Given the description of an element on the screen output the (x, y) to click on. 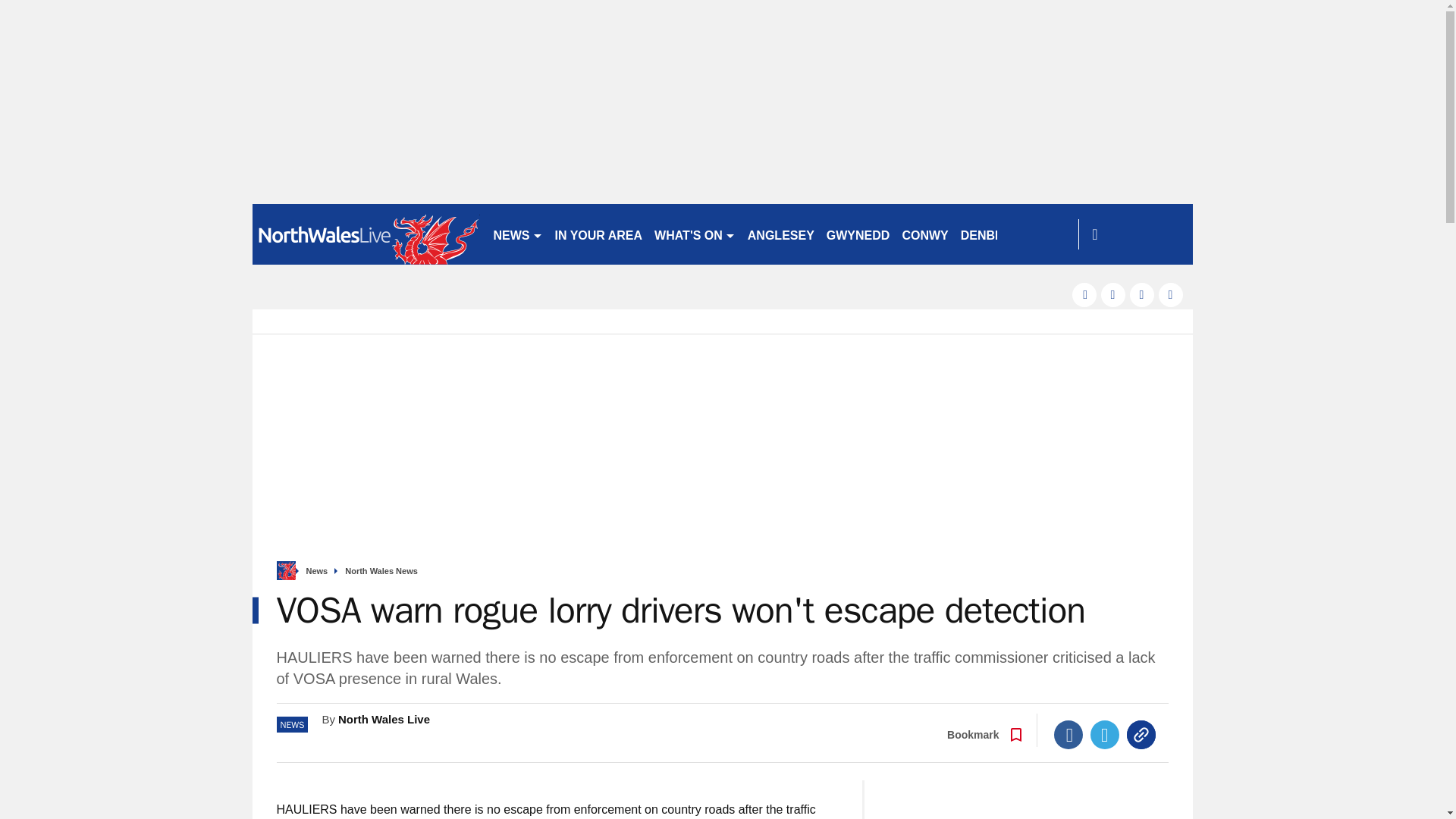
twitter (1112, 294)
northwales (365, 233)
IN YOUR AREA (598, 233)
NEWS (517, 233)
ANGLESEY (781, 233)
DENBIGHSHIRE (1007, 233)
instagram (1170, 294)
Twitter (1104, 734)
GWYNEDD (858, 233)
facebook (1083, 294)
